Given the description of an element on the screen output the (x, y) to click on. 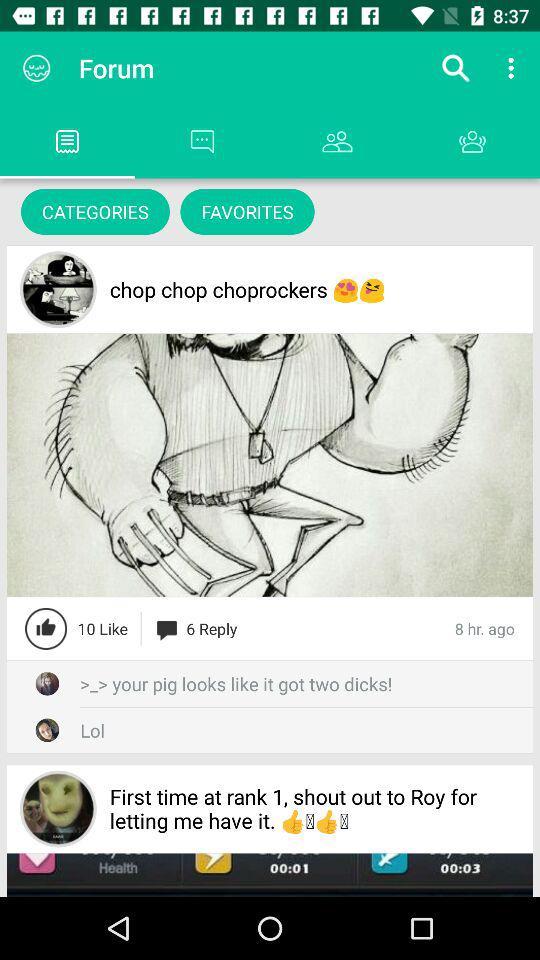
like (46, 628)
